Given the description of an element on the screen output the (x, y) to click on. 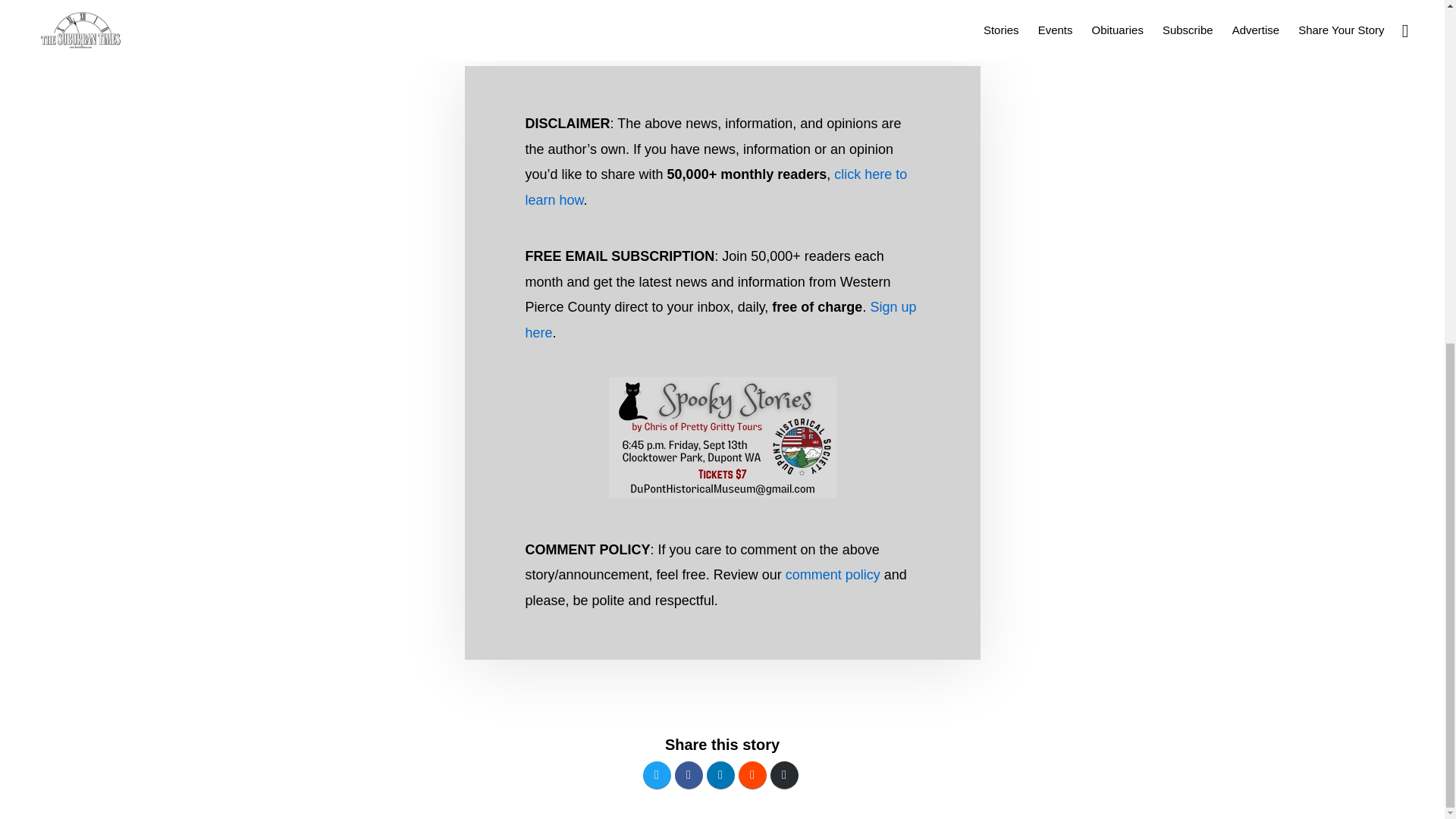
SUBSCRIBE (773, 188)
Share on Twitter (657, 775)
Share on Reddit (752, 775)
comment policy (833, 574)
Share on Facebook (689, 775)
click here to learn how (715, 187)
Log in (815, 161)
ADVERTISE (526, 188)
Share on LinkedIn (720, 775)
COMMENT POLICY (616, 188)
